Given the description of an element on the screen output the (x, y) to click on. 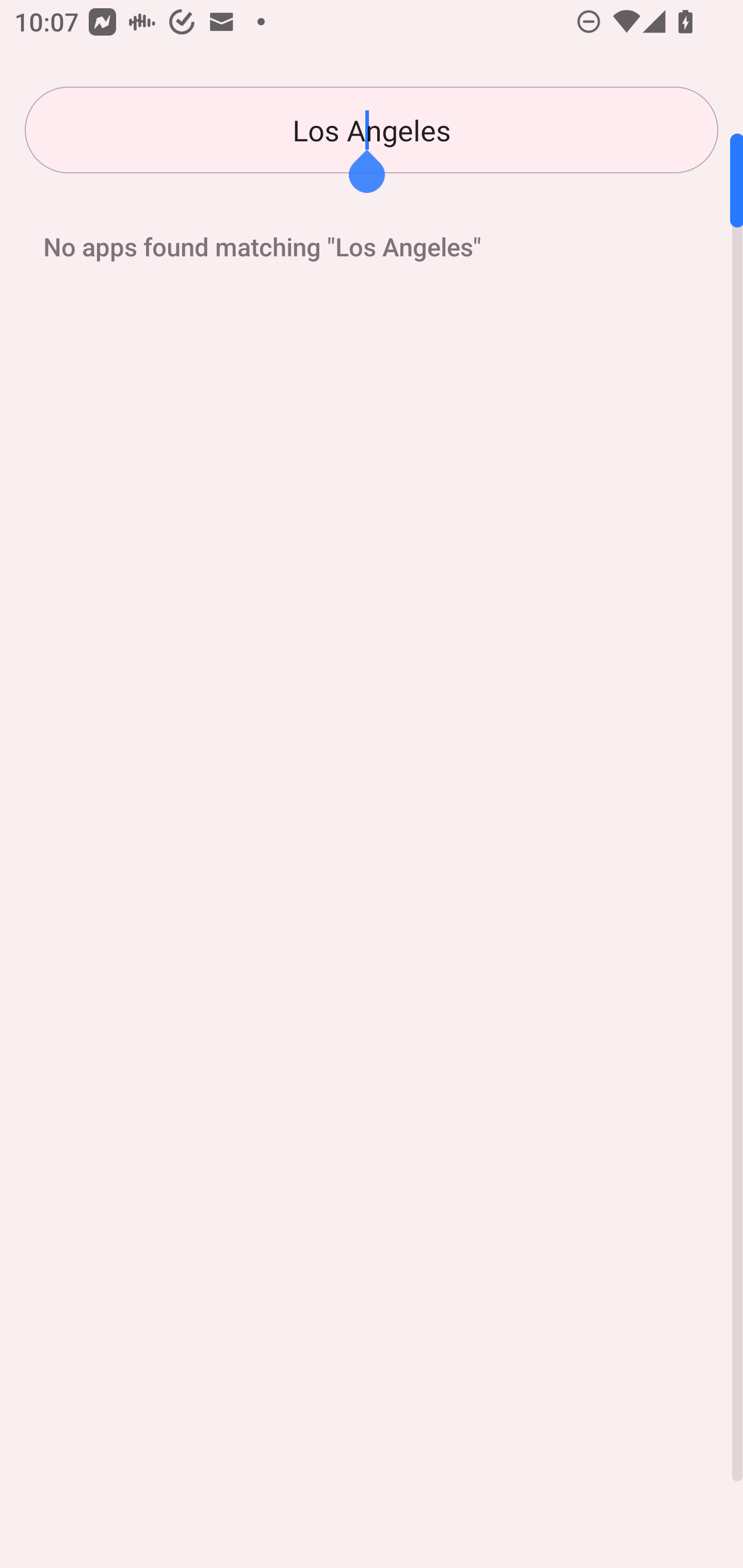
Los Angeles (371, 130)
